Given the description of an element on the screen output the (x, y) to click on. 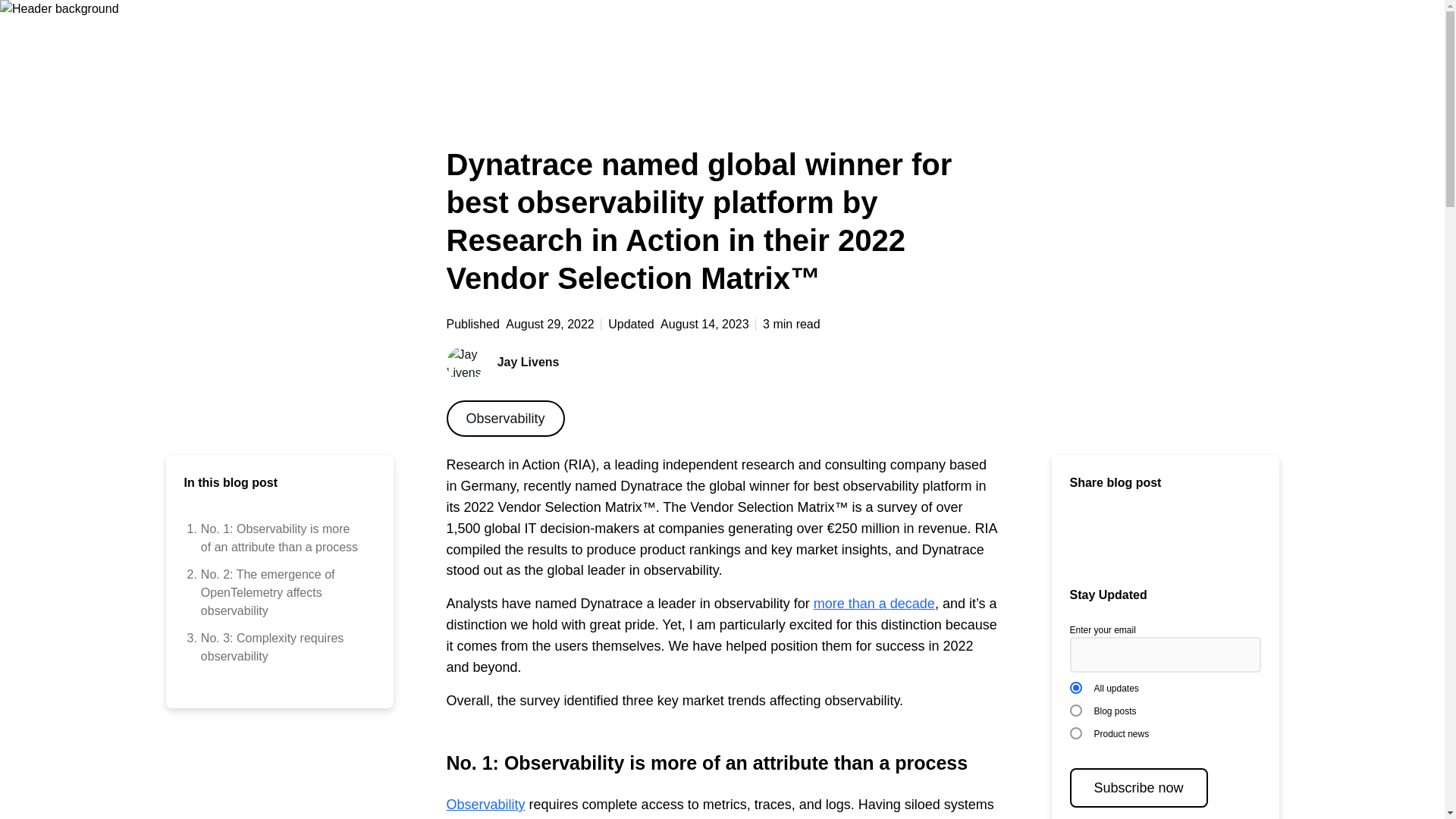
Subscribe now (1137, 787)
Email (1081, 535)
LinkedIn (274, 647)
Facebook (1179, 535)
Observability (1114, 535)
X (504, 418)
Observability (1146, 535)
more than a decade (484, 804)
Jay Livens (873, 603)
